Given the description of an element on the screen output the (x, y) to click on. 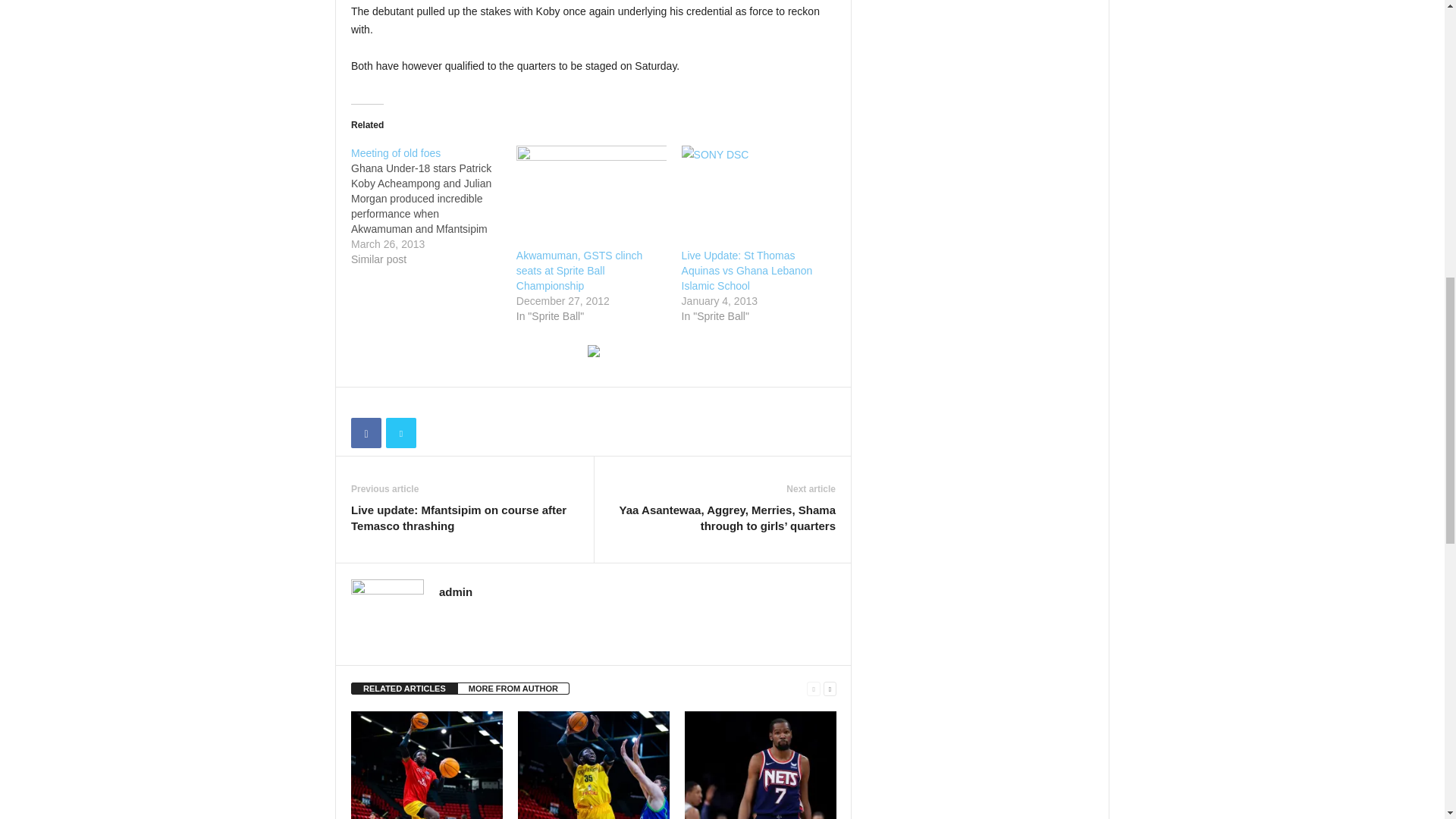
Meeting of old foes (395, 152)
Akwamuman, GSTS clinch seats at Sprite Ball Championship (591, 187)
Akwamuman, GSTS clinch seats at Sprite Ball Championship (579, 269)
Meeting of old foes (433, 205)
